Given the description of an element on the screen output the (x, y) to click on. 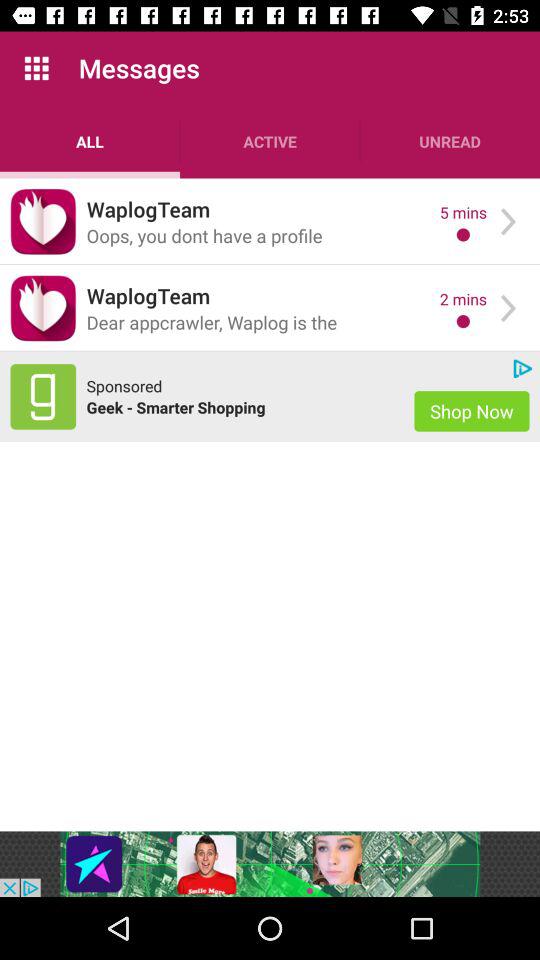
advertisement (270, 864)
